Given the description of an element on the screen output the (x, y) to click on. 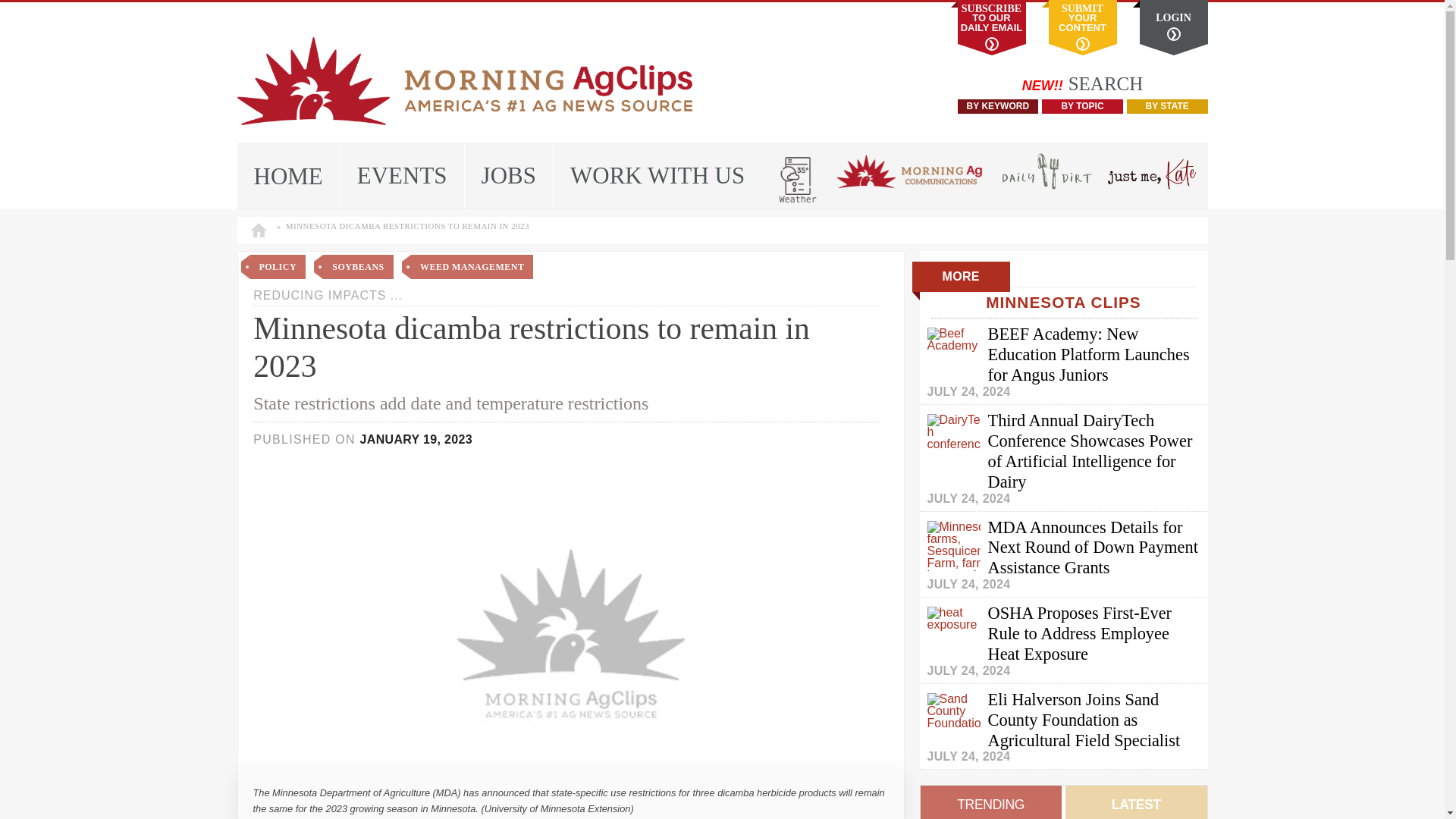
weather (797, 176)
